Given the description of an element on the screen output the (x, y) to click on. 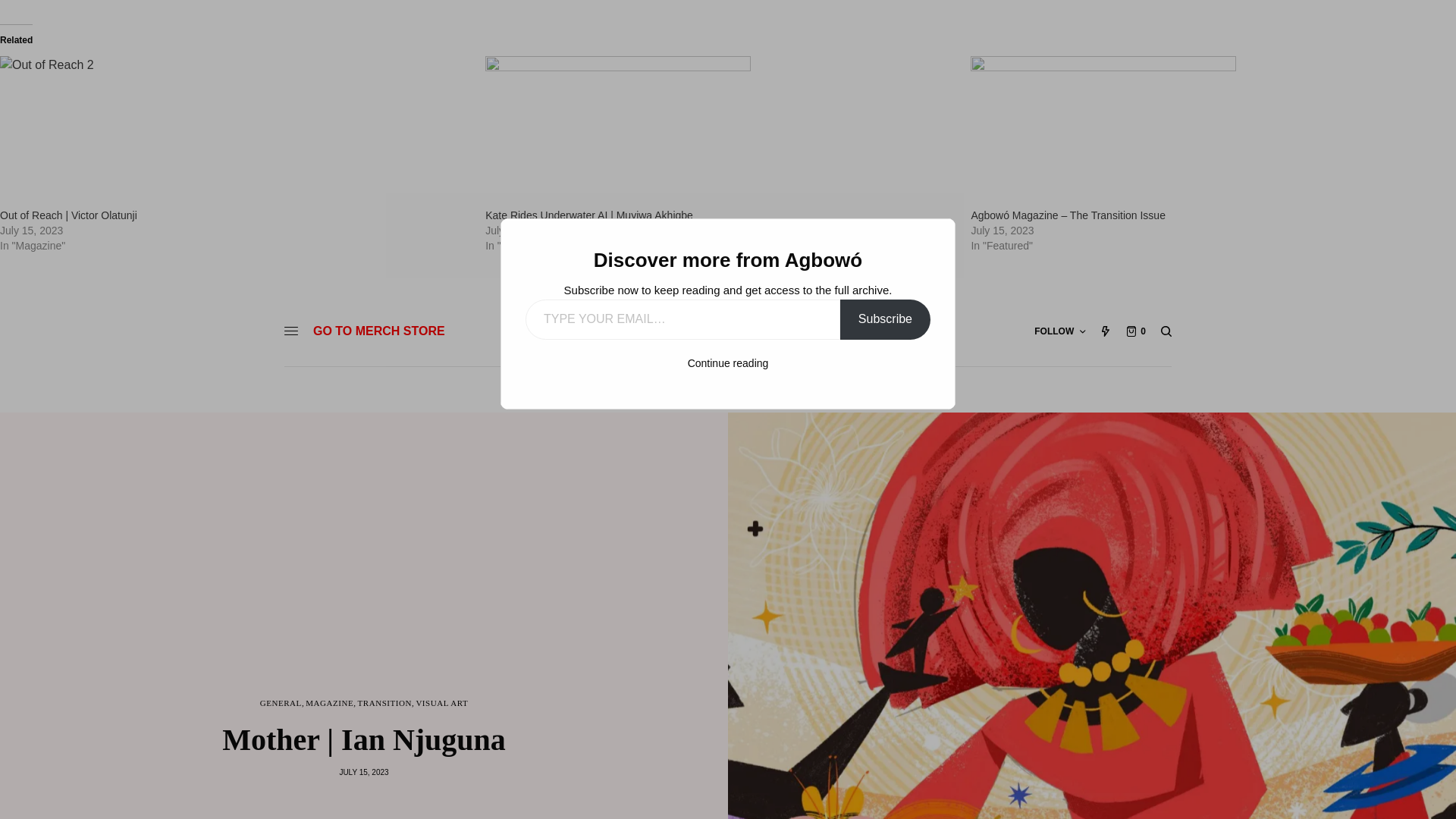
GO TO MERCH STORE (379, 330)
ABOUT (557, 389)
FOLLOW (1058, 330)
